Given the description of an element on the screen output the (x, y) to click on. 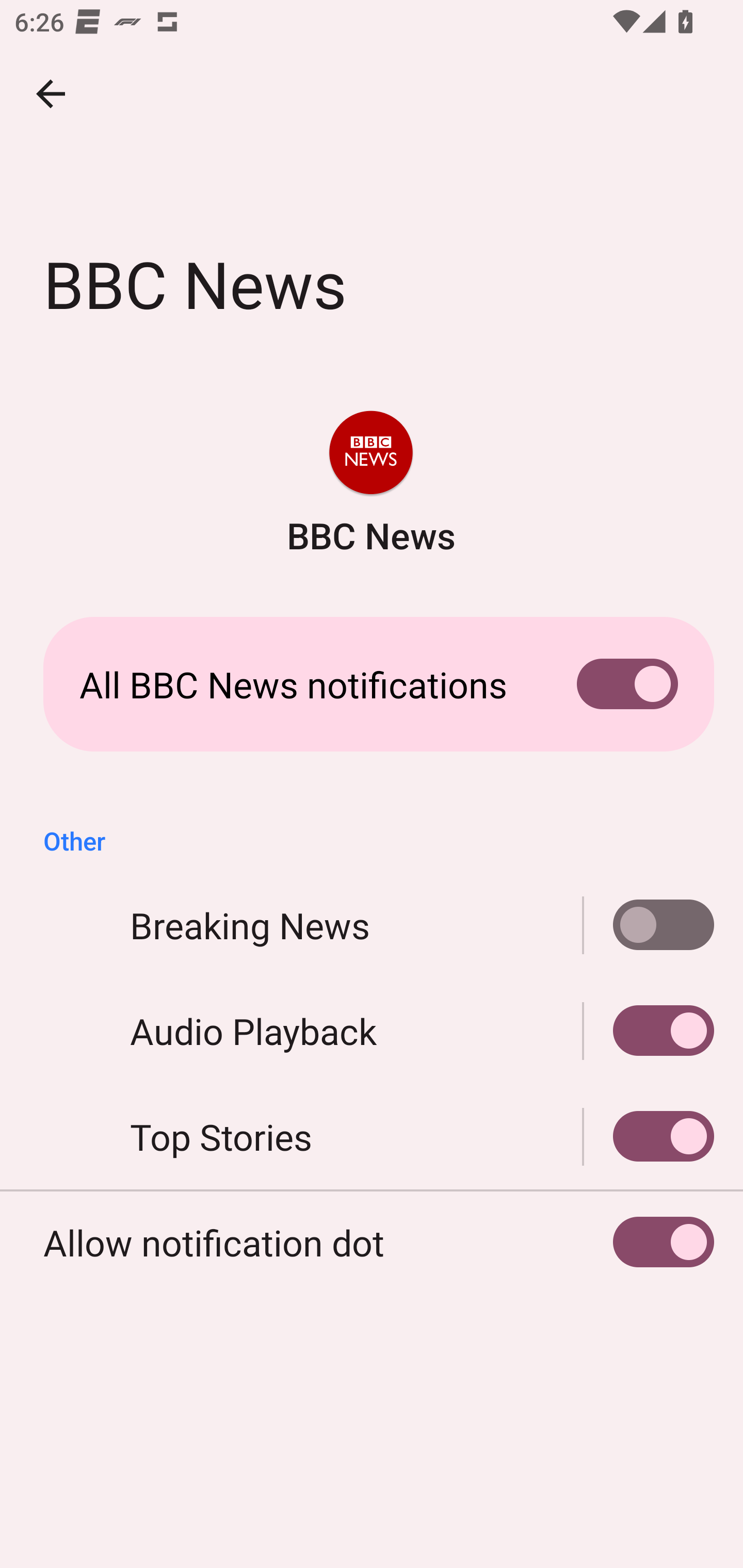
Navigate up (50, 93)
BBC News (370, 484)
All BBC News notifications (371, 684)
Breaking News (371, 924)
Breaking News (648, 924)
Audio Playback (371, 1030)
Audio Playback (648, 1030)
Top Stories (371, 1136)
Top Stories (648, 1136)
Allow notification dot (371, 1242)
